Given the description of an element on the screen output the (x, y) to click on. 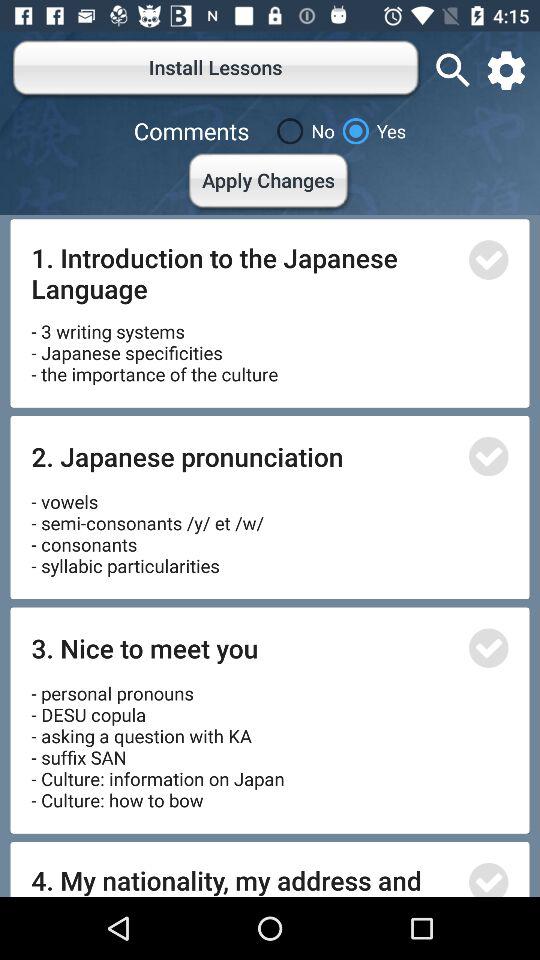
flip to no icon (301, 131)
